Given the description of an element on the screen output the (x, y) to click on. 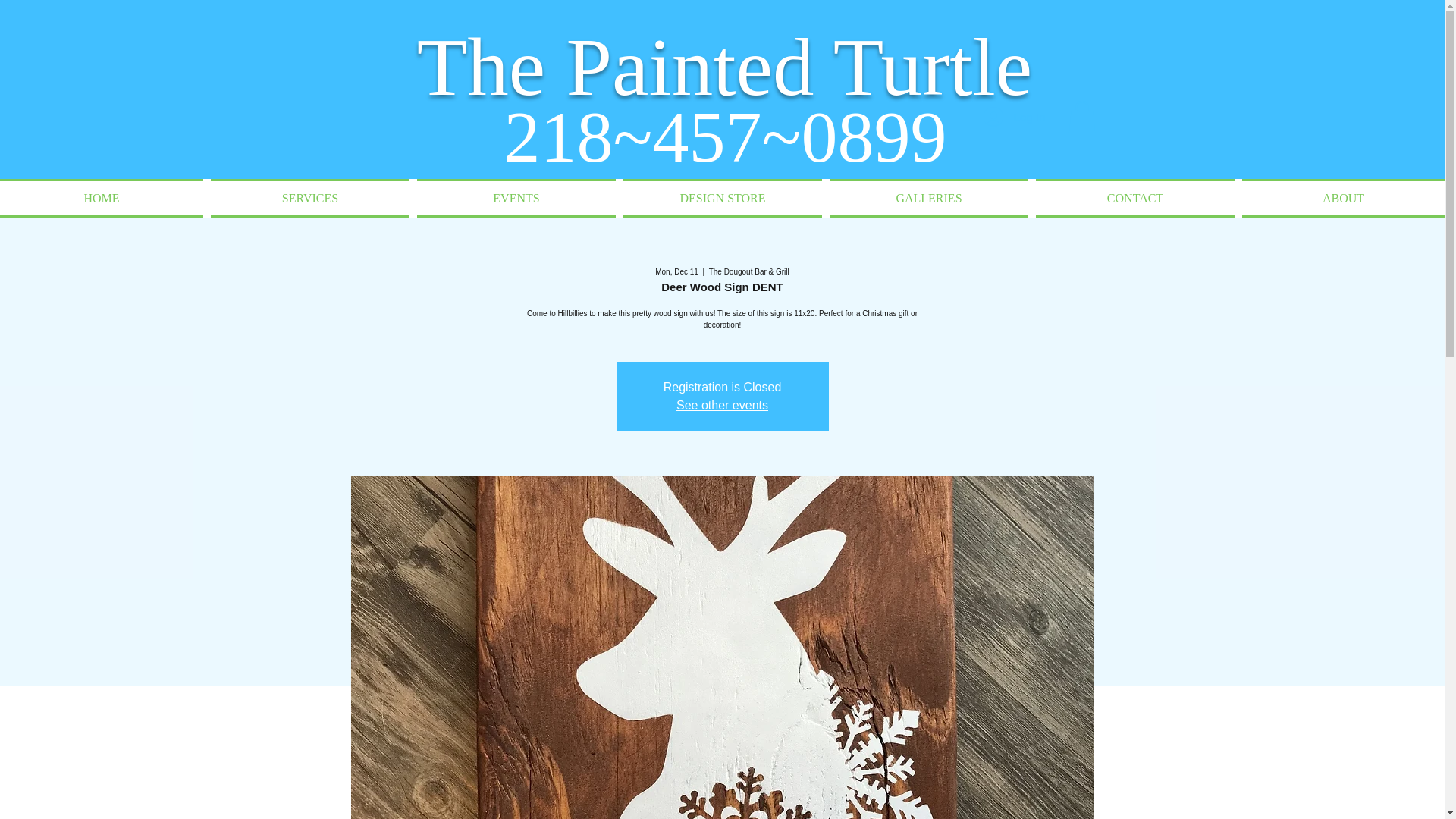
SERVICES (309, 198)
EVENTS (516, 198)
DESIGN STORE (722, 198)
See other events (722, 404)
Log In (1014, 116)
GALLERIES (928, 198)
CONTACT (1135, 198)
HOME (103, 198)
